Given the description of an element on the screen output the (x, y) to click on. 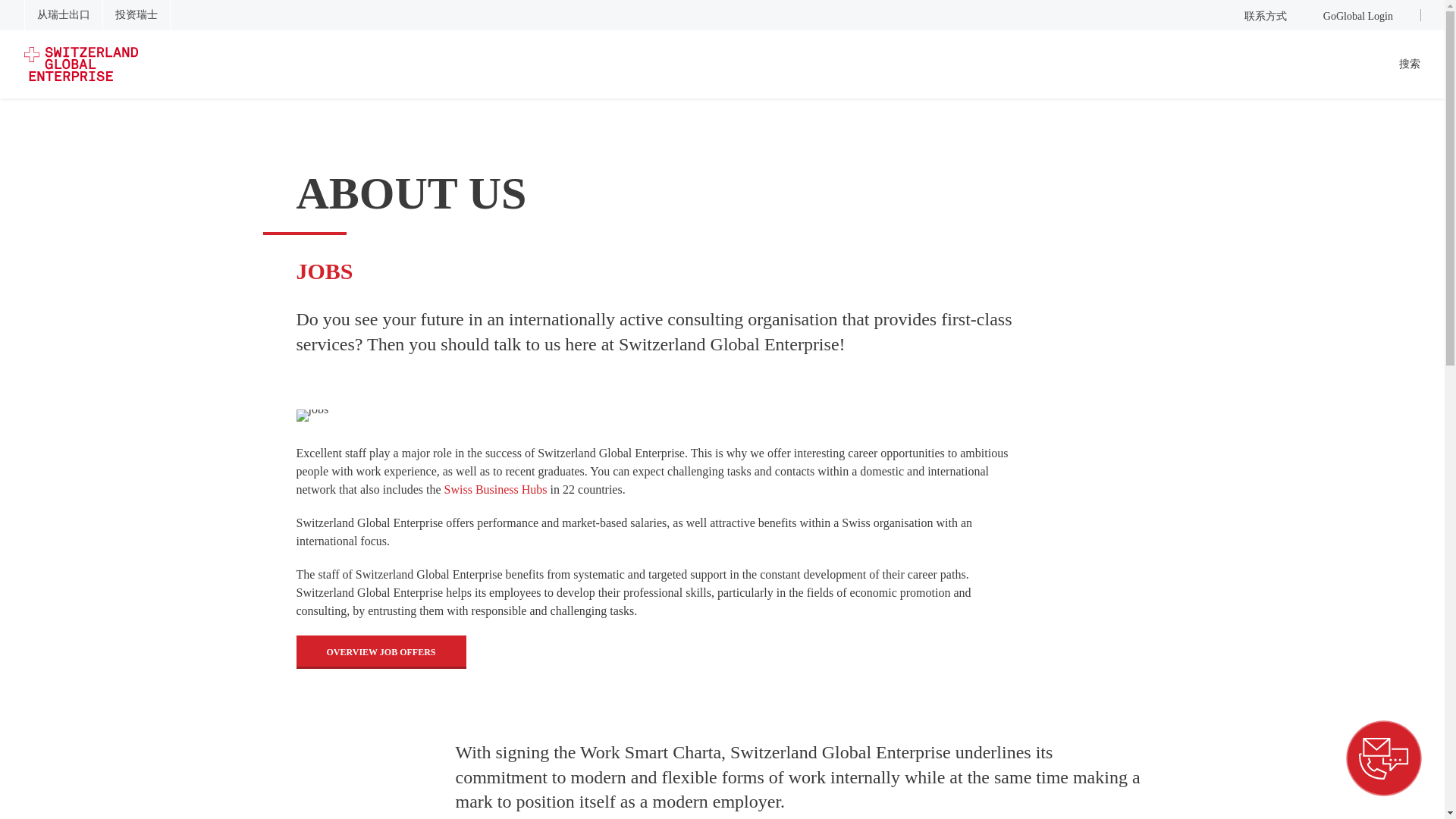
OVERVIEW JOB OFFERS (380, 652)
GoGlobal Login (1351, 15)
Swiss Business Hubs (495, 489)
